Given the description of an element on the screen output the (x, y) to click on. 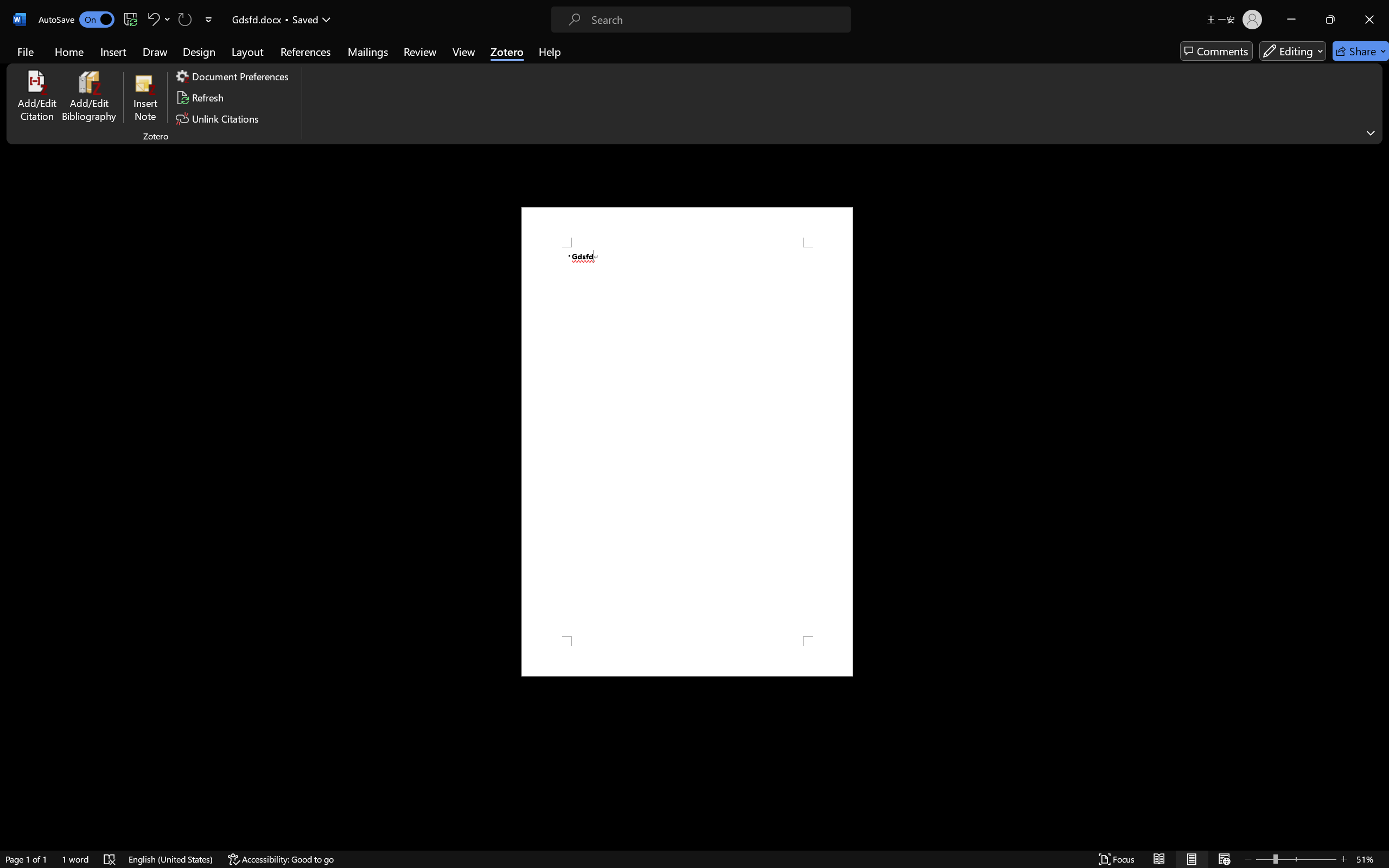
Format Object... (699, 91)
Align Left (333, 71)
Justify (372, 71)
Office Clipboard... (84, 91)
Align Right (360, 71)
AutomationID: ShapesInsertGallery (549, 60)
Shapes (583, 72)
Open (272, 52)
Read more about making documents accessible (1300, 519)
Italic (186, 71)
Shape Effects (668, 74)
Shape Outline (669, 60)
